Given the description of an element on the screen output the (x, y) to click on. 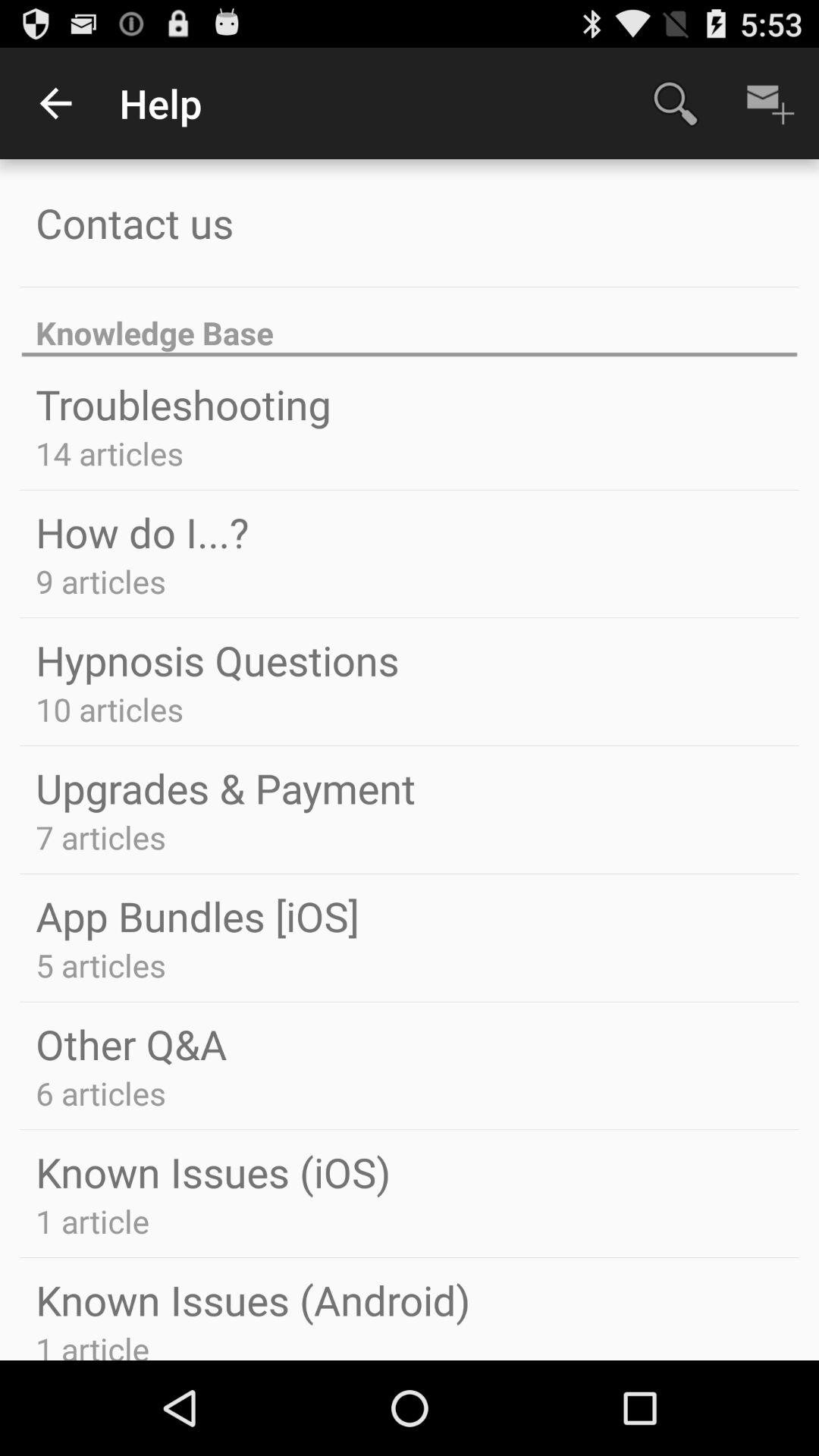
turn on the app bundles [ios] icon (197, 915)
